Given the description of an element on the screen output the (x, y) to click on. 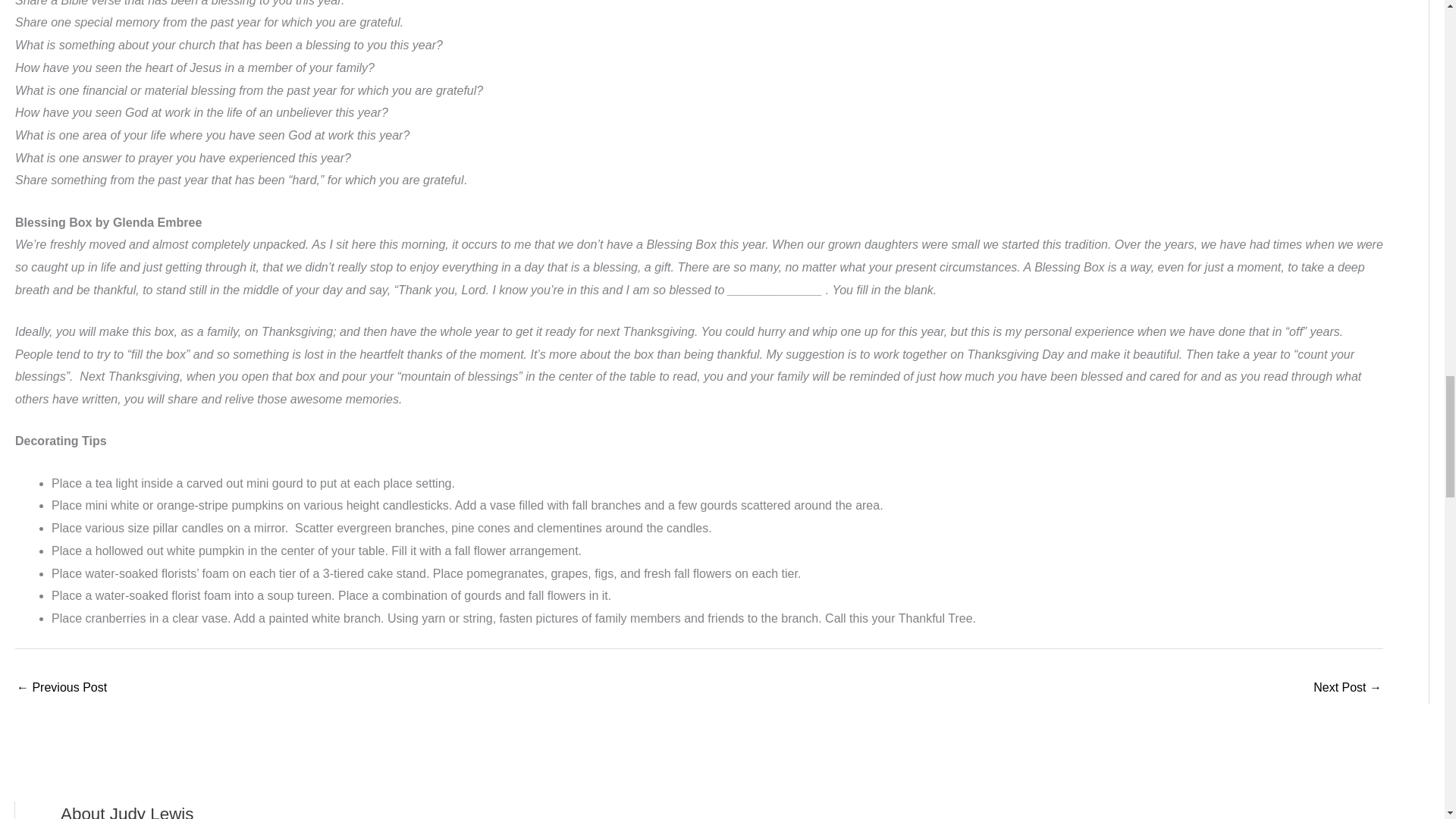
Ways Pastors' Wives Can Show  Their Churches Love (1347, 688)
